Given the description of an element on the screen output the (x, y) to click on. 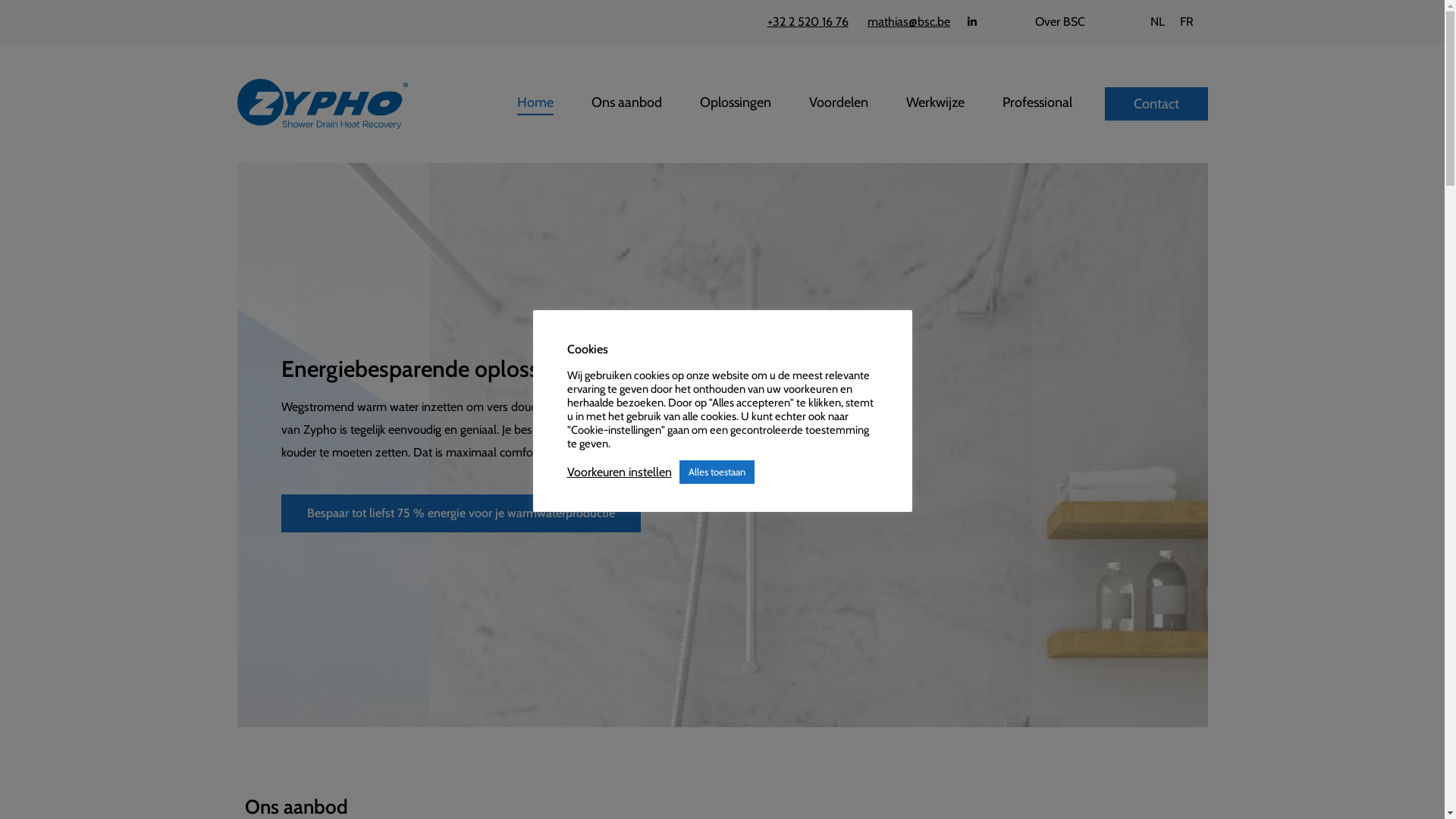
FR Element type: text (1186, 21)
Bespaar tot liefst 75 % energie voor je warmwaterproductie Element type: text (460, 513)
Home Element type: text (534, 102)
Alles toestaan Element type: text (716, 471)
Oplossingen Element type: text (735, 102)
Professional Element type: text (1036, 102)
Over BSC Element type: text (1060, 21)
Voorkeuren instellen Element type: text (619, 472)
Voordelen Element type: text (838, 102)
mathias@bsc.be Element type: text (908, 21)
Ons aanbod Element type: text (625, 102)
+32 2 520 16 76 Element type: text (807, 21)
Contact Element type: text (1155, 103)
Werkwijze Element type: text (935, 102)
NL Element type: text (1157, 21)
